Given the description of an element on the screen output the (x, y) to click on. 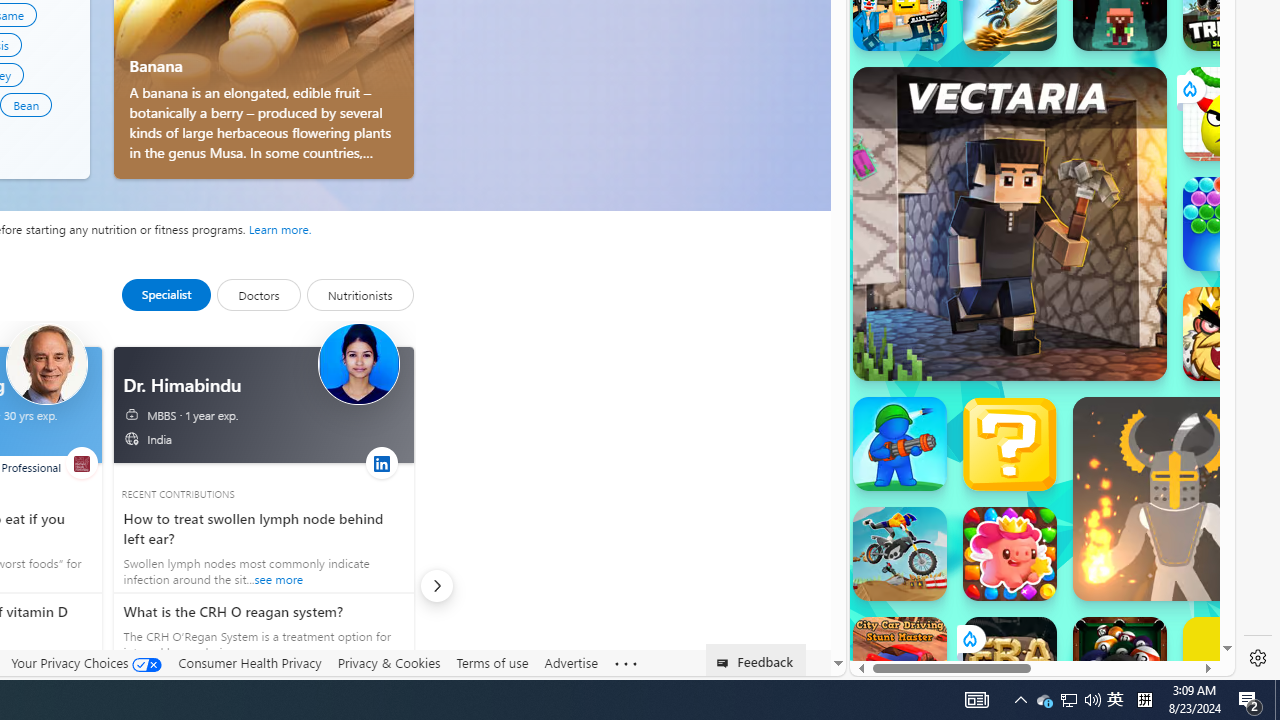
Ragdoll Hit (1174, 498)
Bubble Shooter Bubble Shooter (1229, 223)
City Car Driving: Stunt Master (899, 664)
Hills of Steel Hills of Steel poki.com (943, 245)
Like a King (1229, 333)
see more (260, 632)
Poki (1034, 606)
Crazy Bikes Crazy Bikes (899, 553)
Health professional icon - Dr. Himabindu  (358, 363)
poki.com (1092, 338)
